Given the description of an element on the screen output the (x, y) to click on. 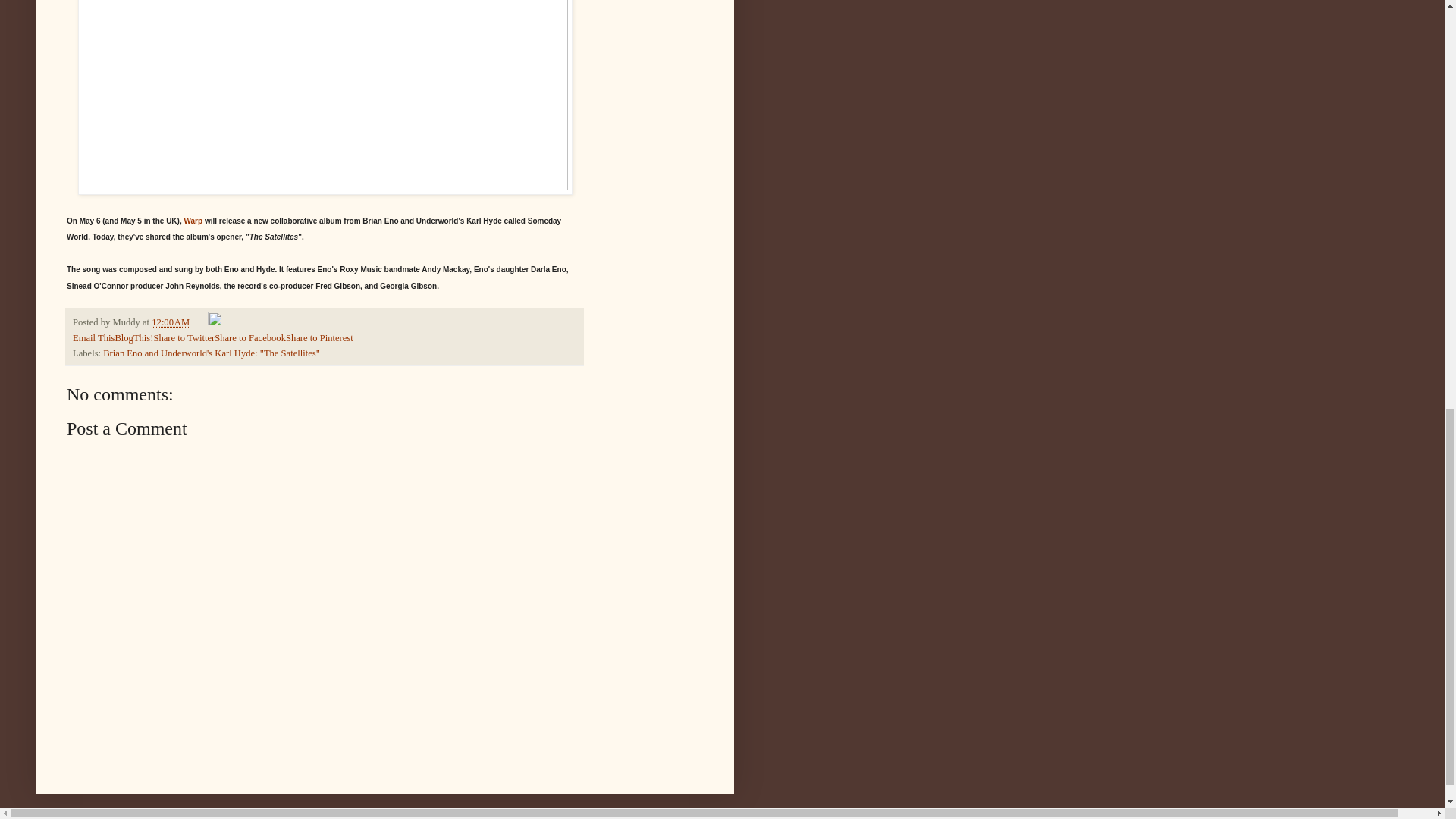
Email Post (200, 321)
BlogThis! (133, 337)
Brian Eno and Underworld's Karl Hyde: "The Satellites" (211, 353)
permanent link (170, 321)
Warp (192, 221)
Share to Facebook (249, 337)
Edit Post (214, 321)
Share to Facebook (249, 337)
Share to Twitter (183, 337)
Share to Pinterest (319, 337)
Share to Pinterest (319, 337)
Share to Twitter (183, 337)
Email This (93, 337)
Email This (93, 337)
